Given the description of an element on the screen output the (x, y) to click on. 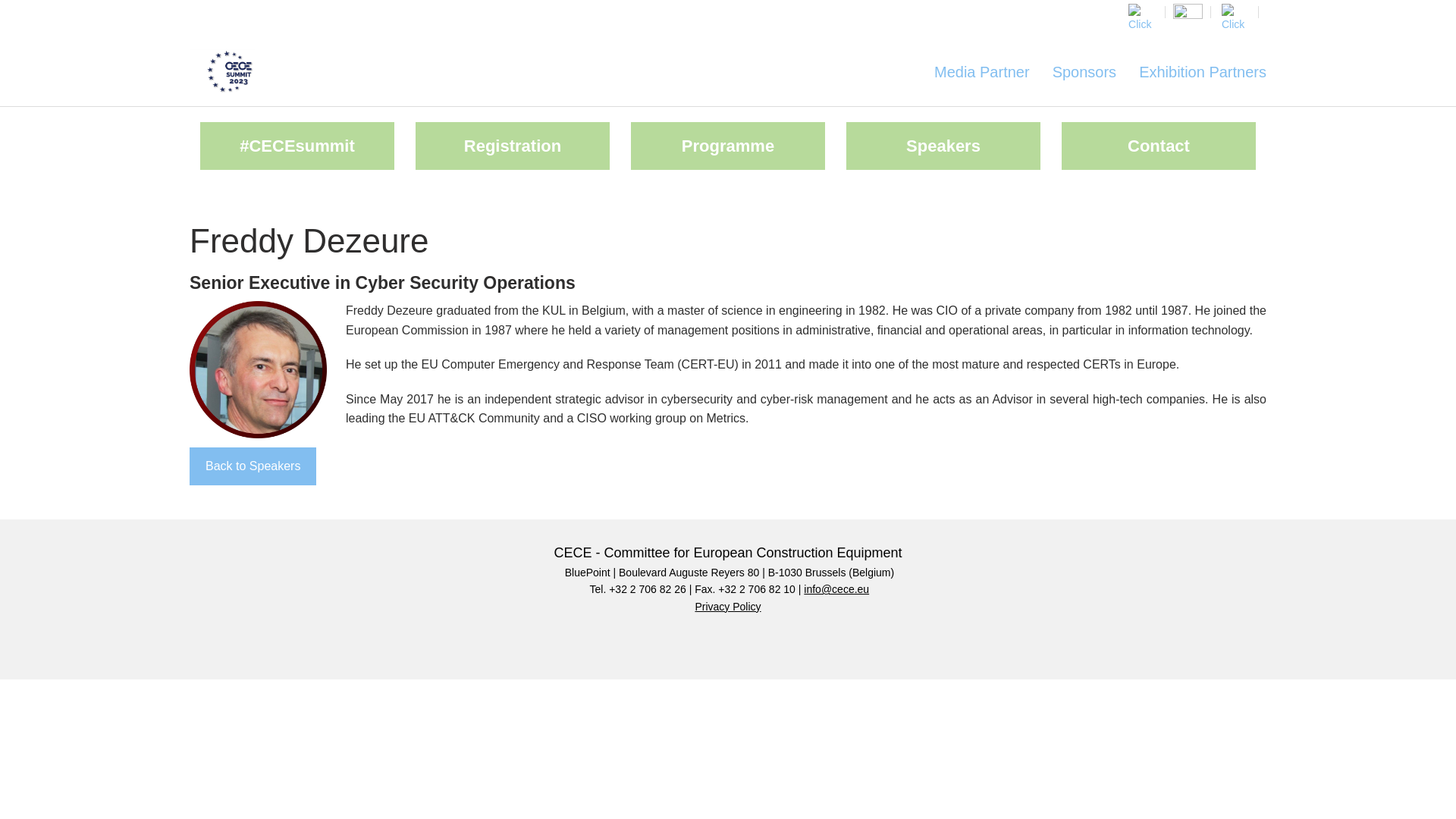
Speakers (943, 145)
Sponsors (1084, 71)
Back to Speakers (252, 466)
Contact (1158, 145)
Programme (727, 145)
Media Partner (982, 71)
Privacy Policy (727, 606)
Exhibition Partners (1196, 71)
Registration (512, 145)
